Given the description of an element on the screen output the (x, y) to click on. 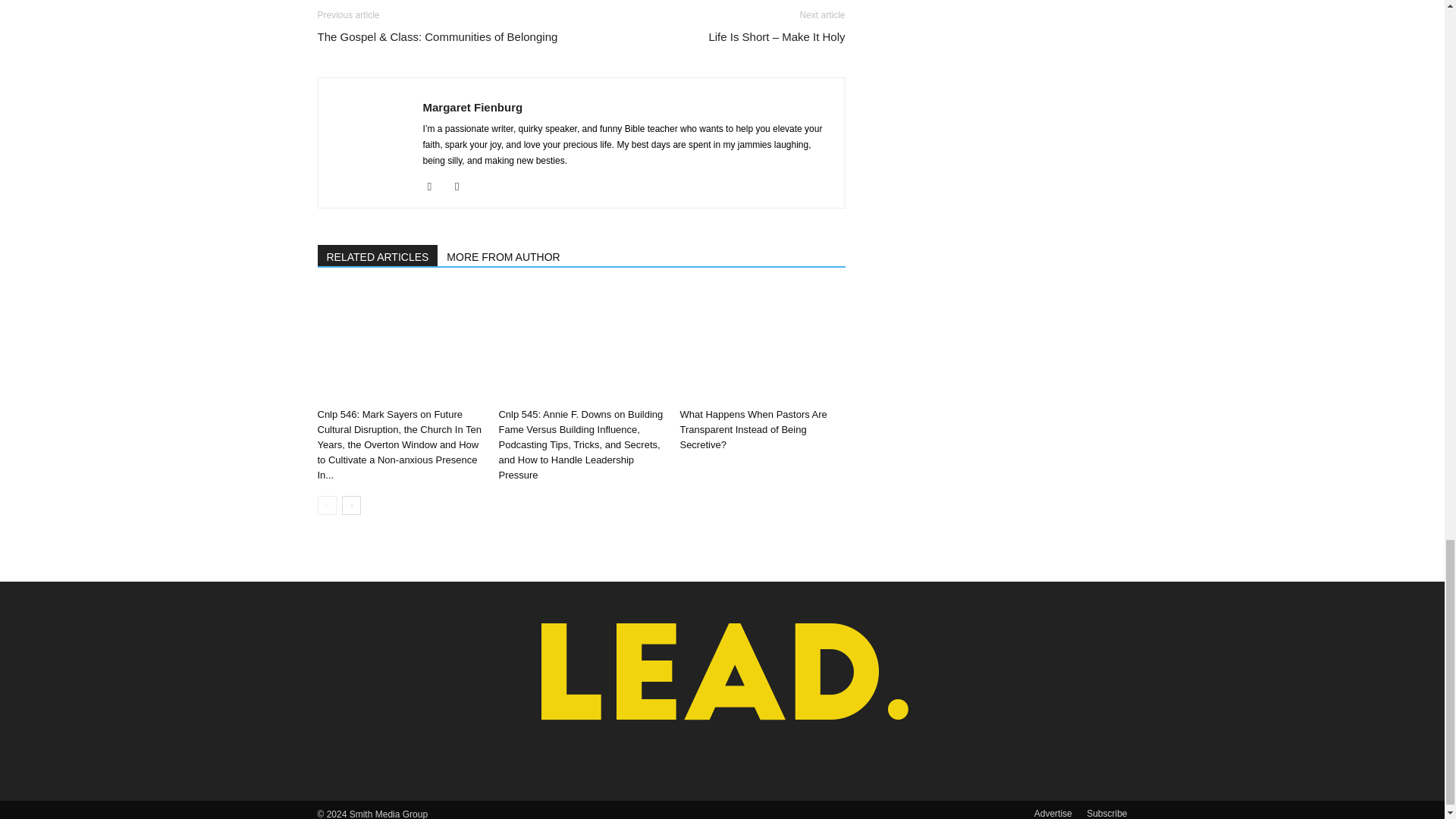
Facebook (435, 186)
